Given the description of an element on the screen output the (x, y) to click on. 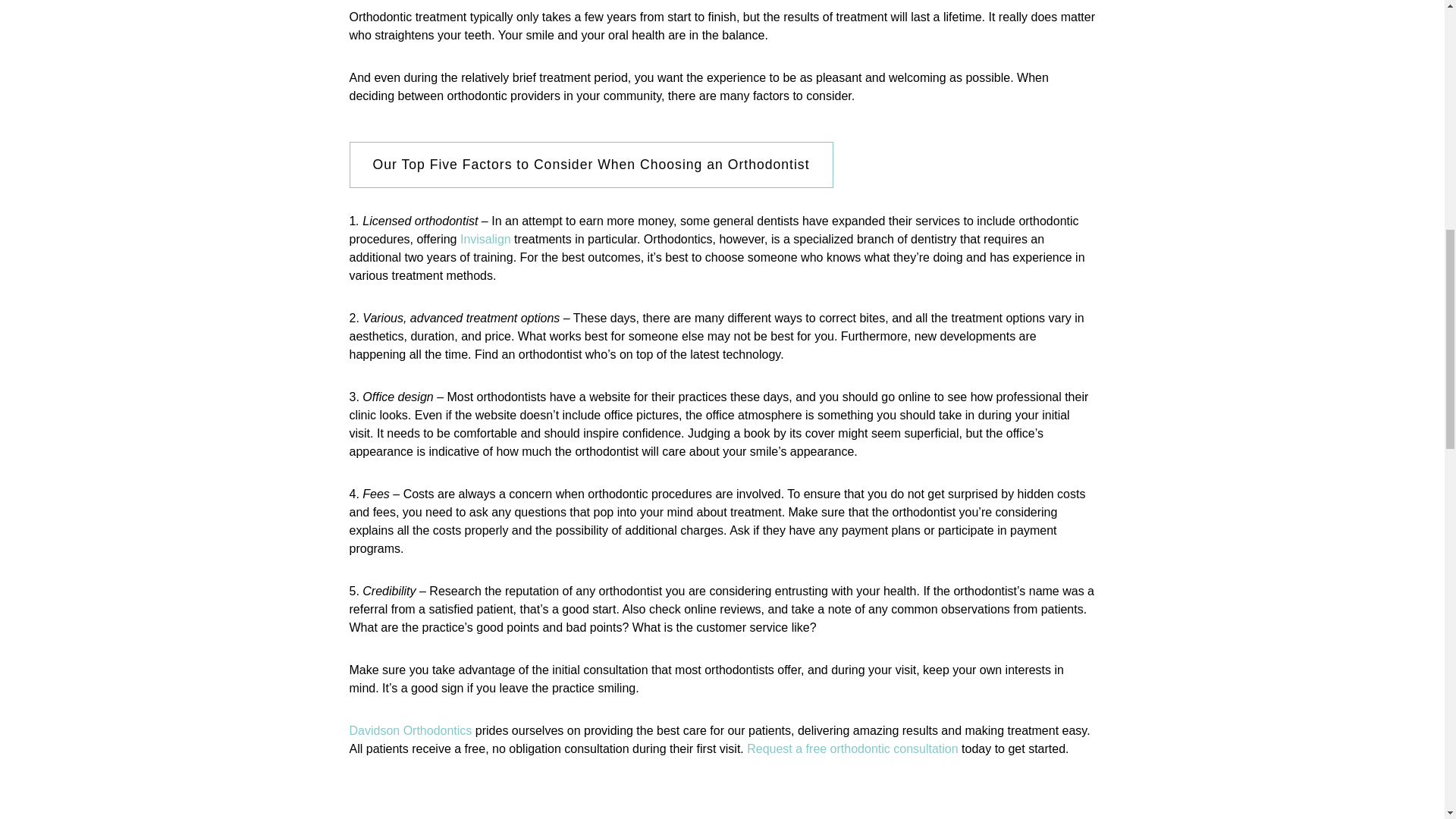
Davidson Orthodontics (410, 730)
Invisalign (485, 238)
Request a free orthodontic consultation (852, 748)
